Given the description of an element on the screen output the (x, y) to click on. 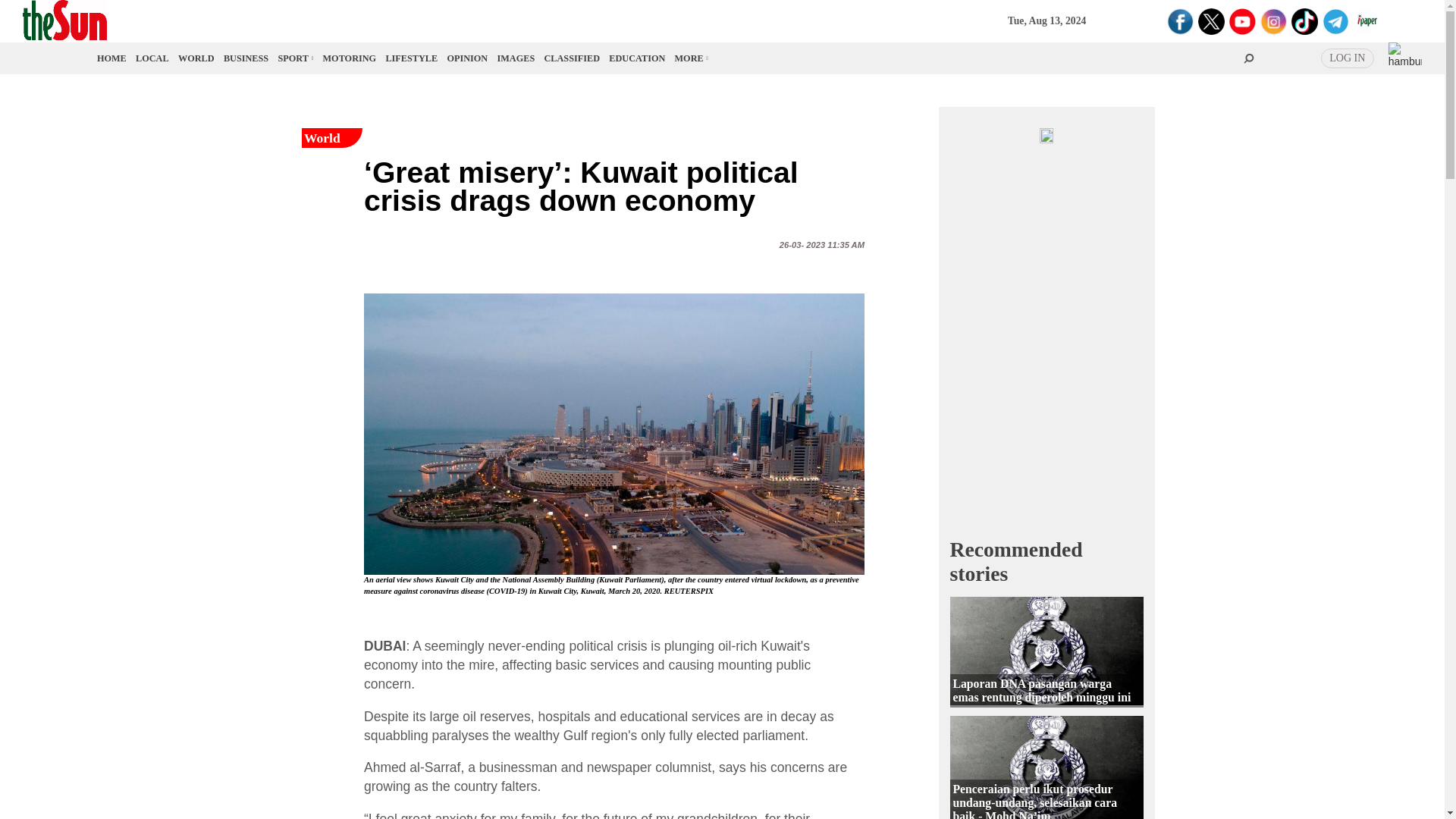
LOG IN (1347, 57)
LIFESTYLE (411, 57)
LOCAL (151, 57)
HOME (111, 57)
WORLD (195, 57)
CLASSIFIED (571, 57)
OPINION (466, 57)
MORE (690, 57)
IMAGES (516, 57)
Home (111, 57)
